Given the description of an element on the screen output the (x, y) to click on. 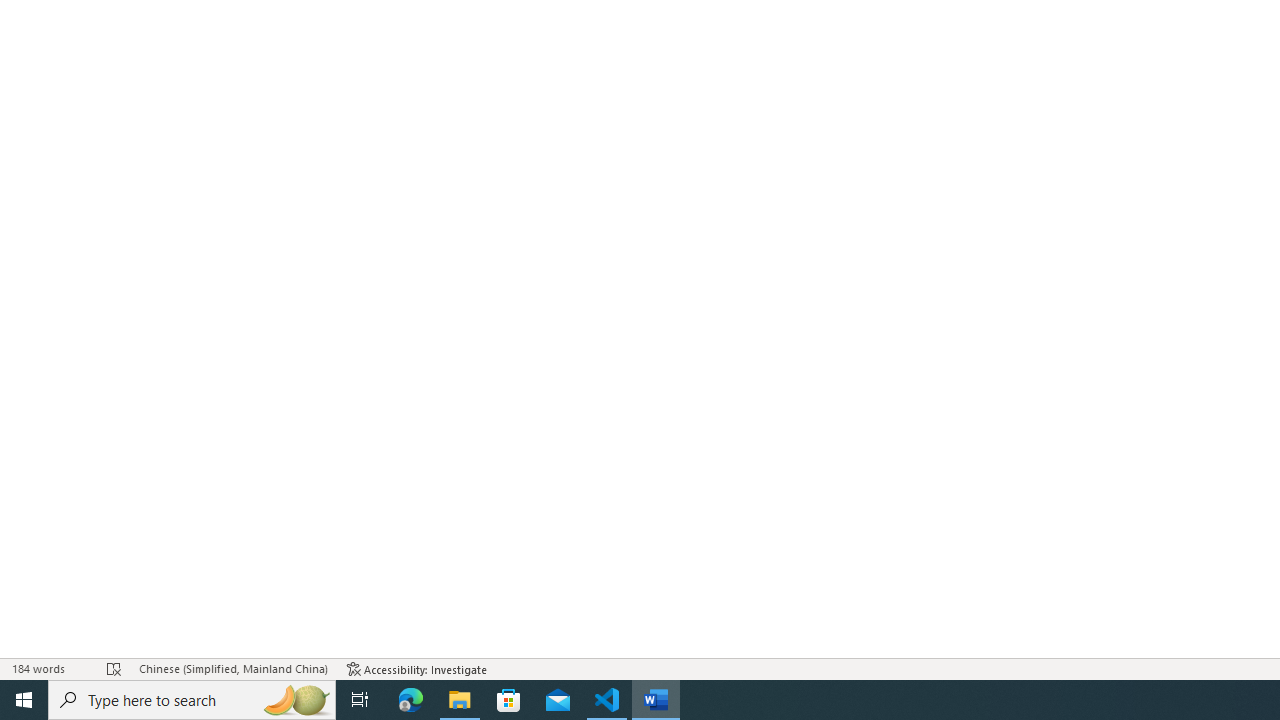
Word Count 184 words (49, 668)
